Given the description of an element on the screen output the (x, y) to click on. 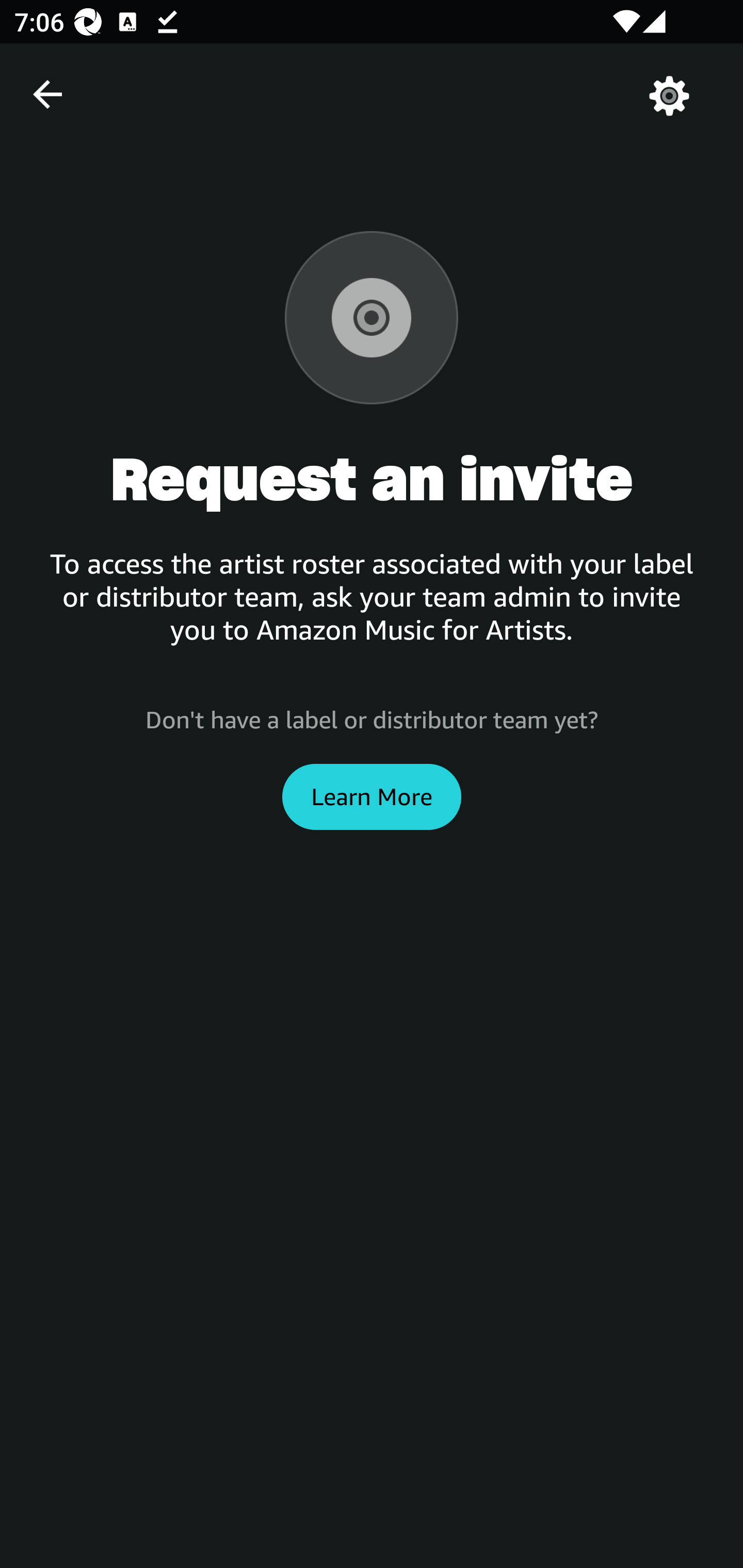
Learn more button Learn More (371, 796)
